Given the description of an element on the screen output the (x, y) to click on. 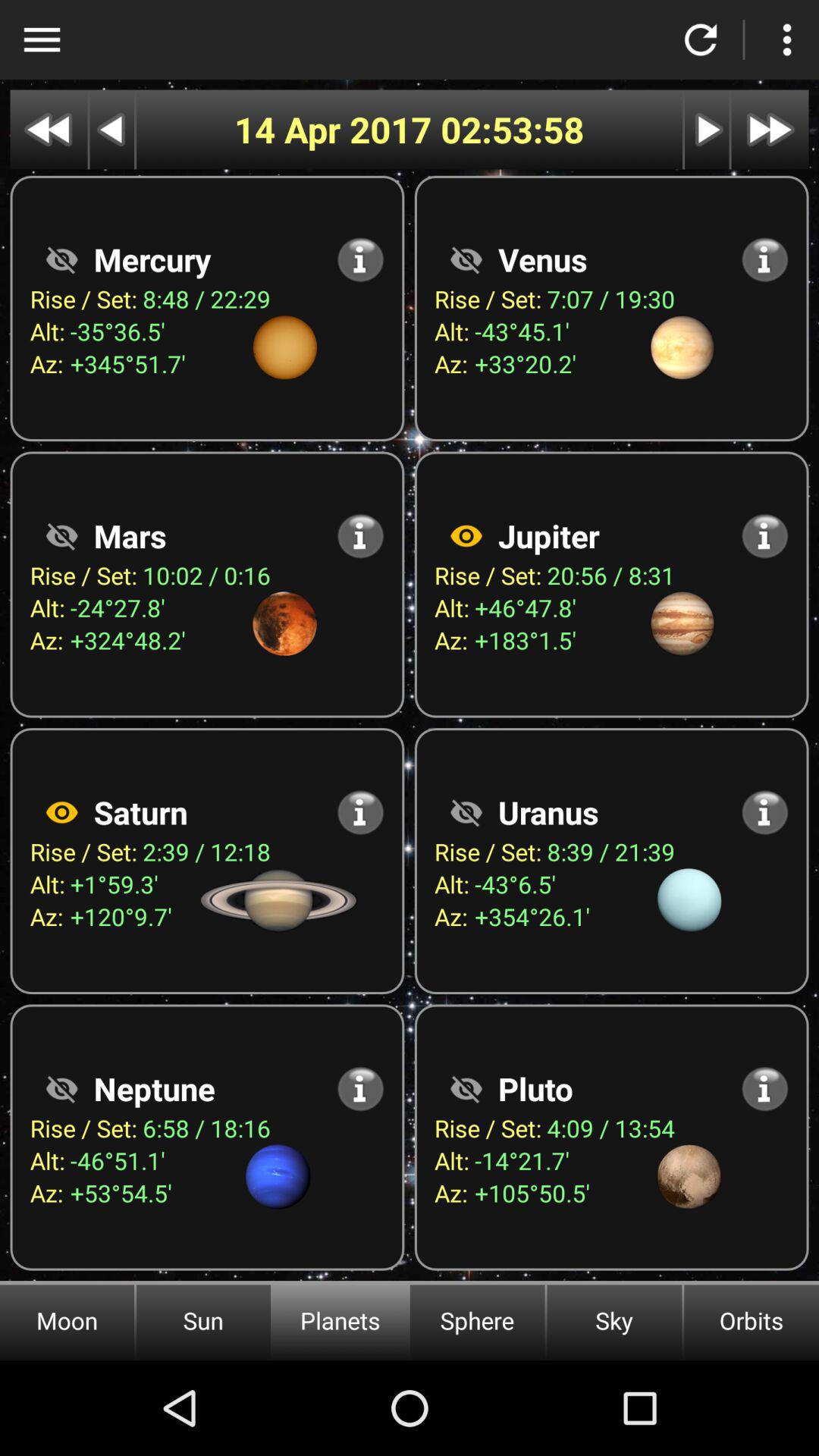
show more information (764, 812)
